Given the description of an element on the screen output the (x, y) to click on. 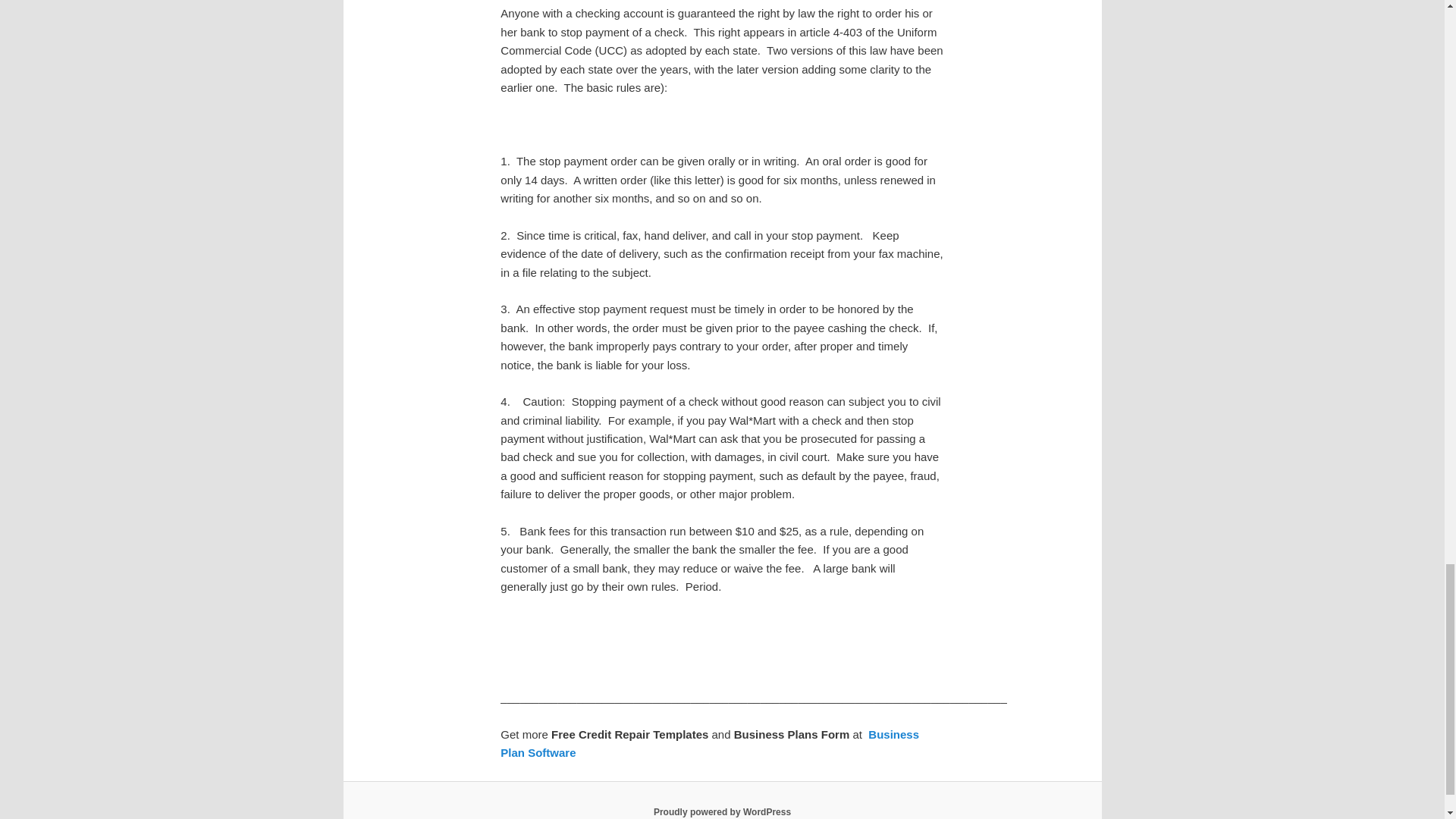
Business Plan Software (709, 743)
Semantic Personal Publishing Platform (721, 811)
